Given the description of an element on the screen output the (x, y) to click on. 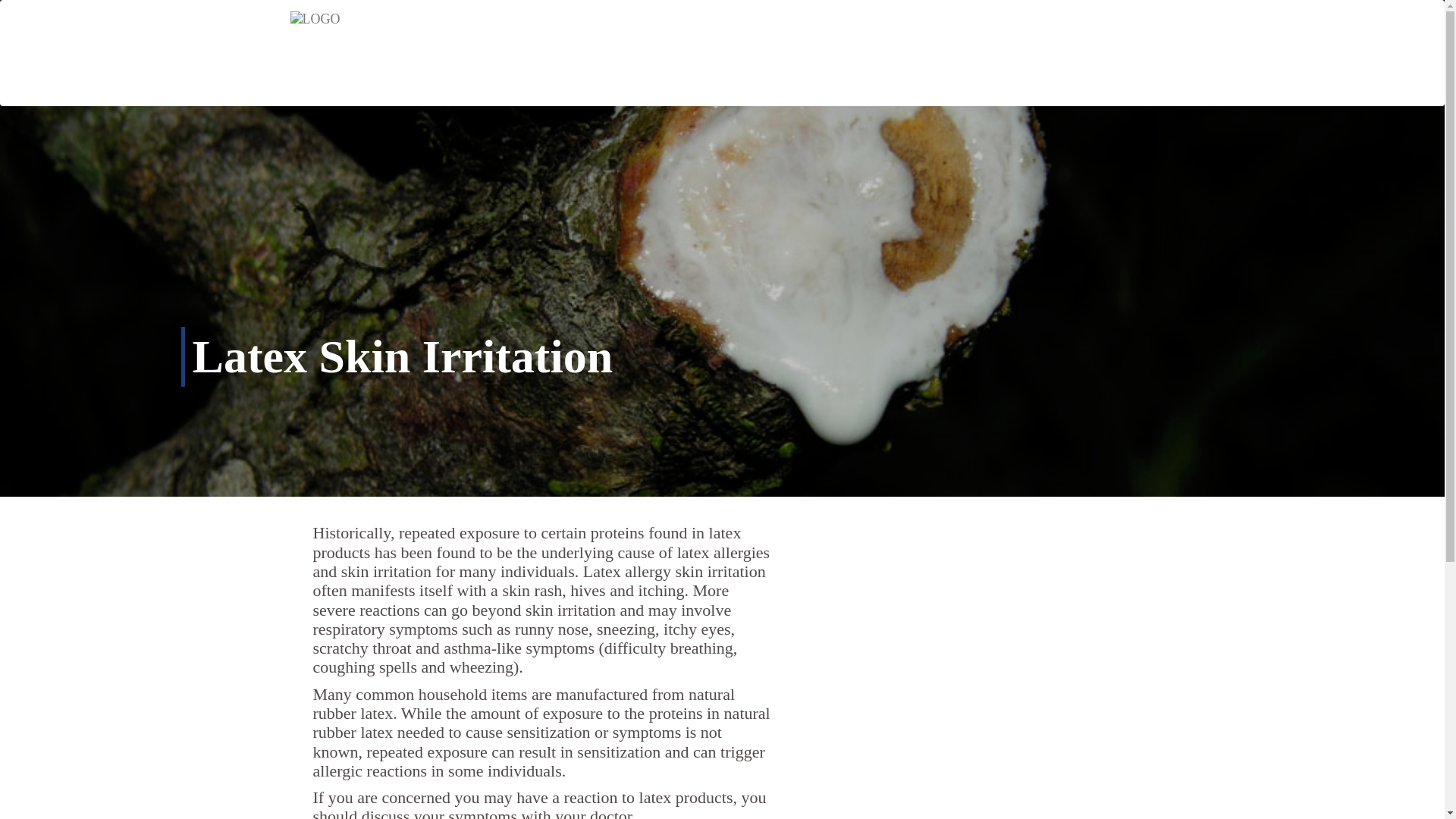
Home (863, 51)
Company (940, 51)
Products (1024, 51)
